Given the description of an element on the screen output the (x, y) to click on. 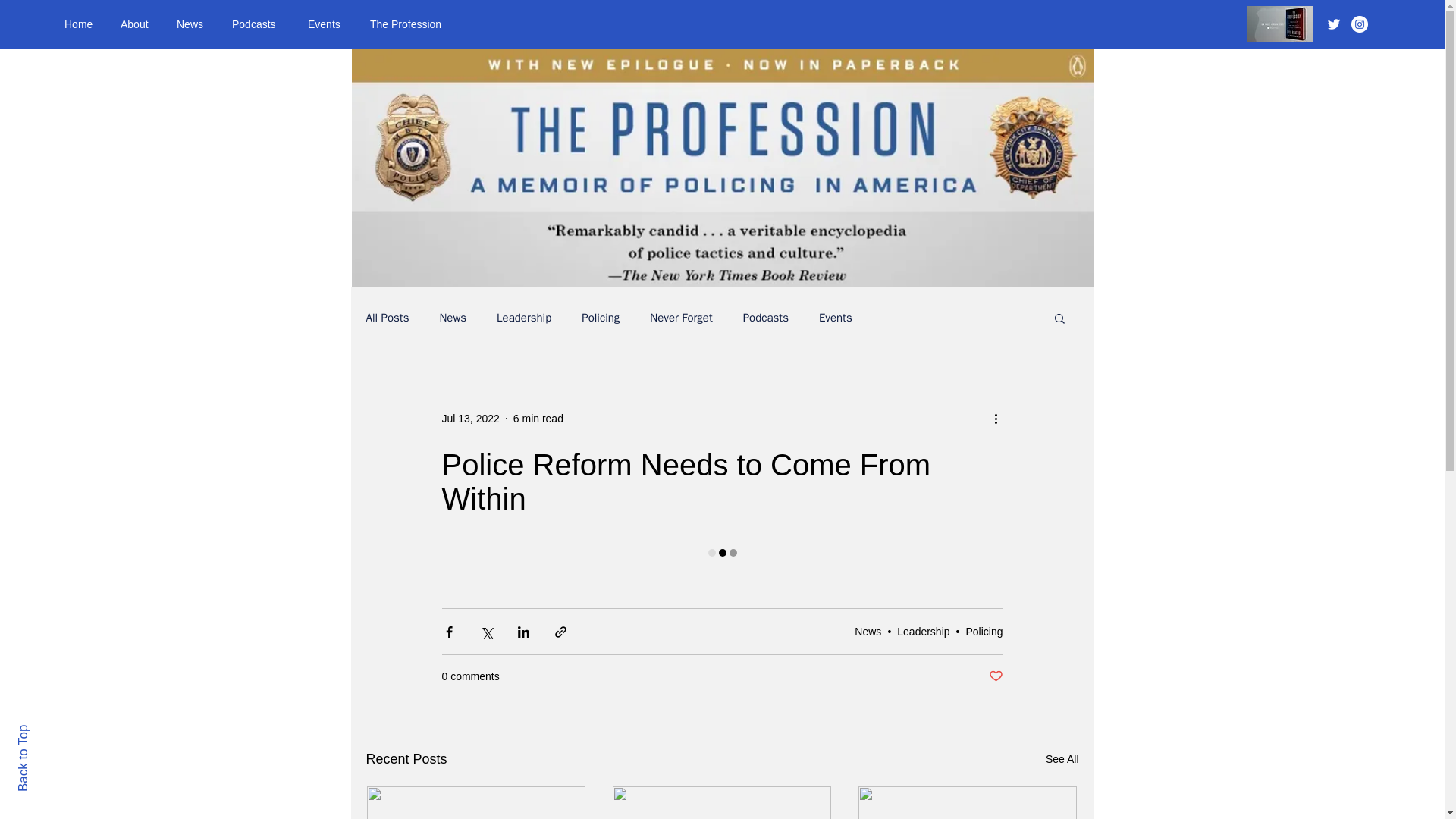
Events (834, 318)
Podcasts (259, 24)
See All (1061, 759)
The Profession (412, 24)
Never Forget (680, 318)
Podcasts (765, 318)
About (137, 24)
News (867, 630)
Post not marked as liked (995, 676)
Policing (600, 318)
